Given the description of an element on the screen output the (x, y) to click on. 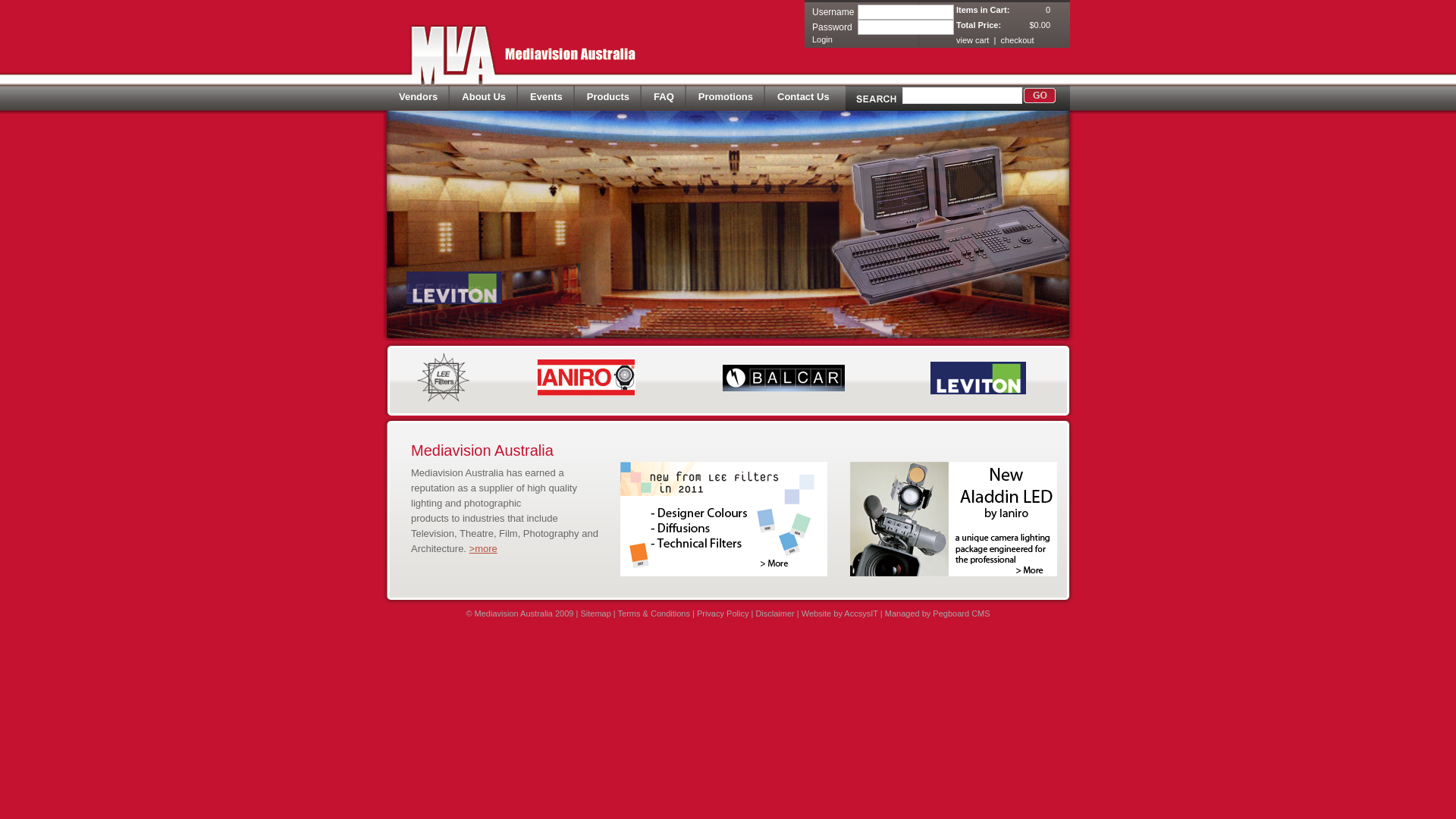
view cart Element type: text (972, 39)
Vendors Element type: text (417, 97)
Terms & Conditions Element type: text (654, 613)
checkout Element type: text (1017, 39)
Products Element type: text (607, 97)
Privacy Policy Element type: text (722, 613)
Contact Us Element type: text (803, 97)
Login Element type: text (822, 38)
FAQ Element type: text (663, 97)
Events Element type: text (545, 97)
>more Element type: text (483, 548)
Sitemap Element type: text (595, 613)
Disclaimer Element type: text (774, 613)
Managed by Pegboard CMS Element type: text (937, 613)
About Us Element type: text (483, 97)
Promotions Element type: text (725, 97)
Website by AccsysIT Element type: text (839, 613)
